Given the description of an element on the screen output the (x, y) to click on. 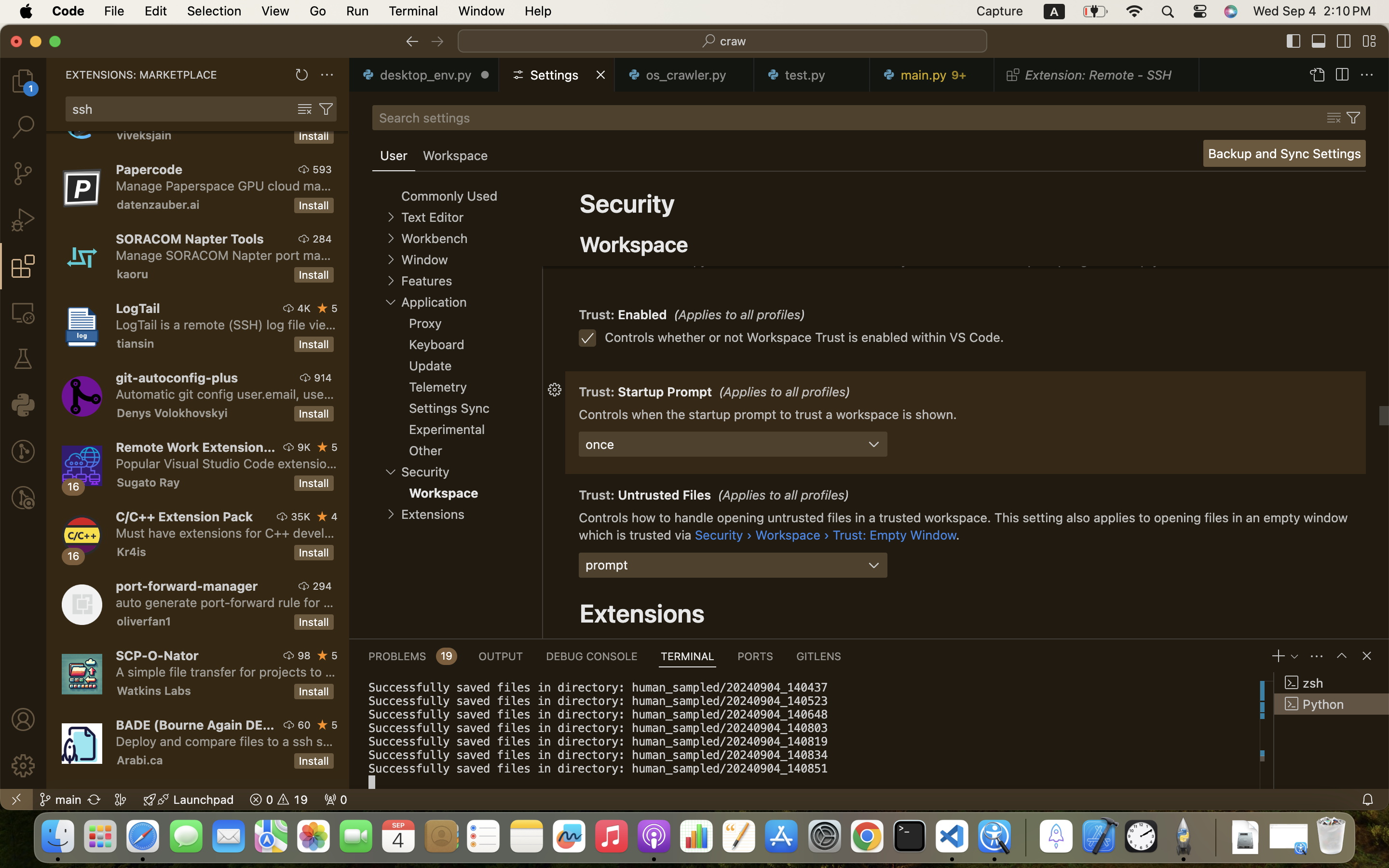
 Element type: AXStaticText (390, 237)
0 main.py   9+ Element type: AXRadioButton (932, 74)
0  Element type: AXRadioButton (23, 451)
Search settings Element type: AXStaticText (424, 117)
A simple file transfer for projects to and from servers suporting scp (ssh file transfer). Element type: AXStaticText (225, 671)
